Given the description of an element on the screen output the (x, y) to click on. 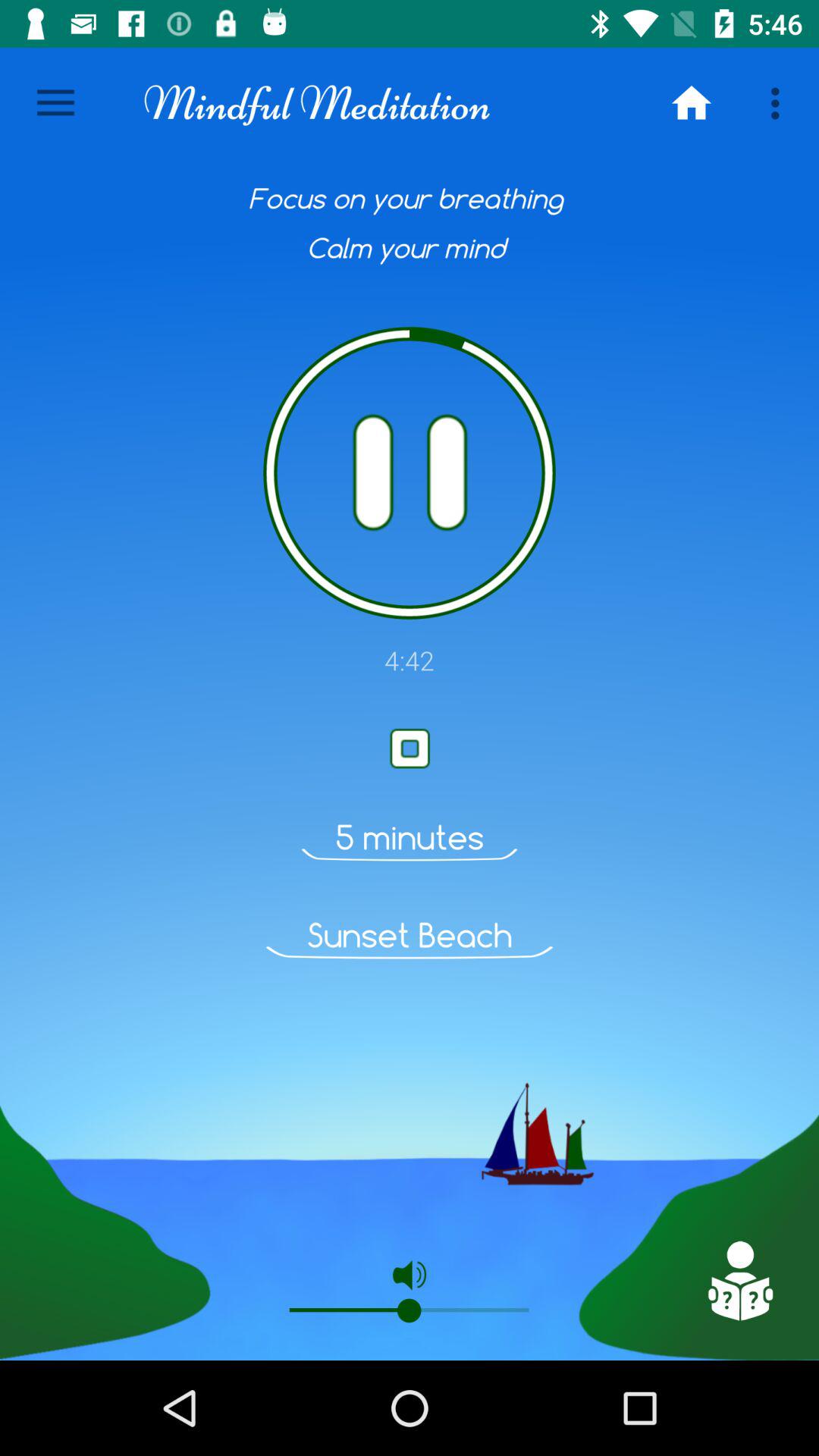
tap 5 minutes   item (409, 837)
